Given the description of an element on the screen output the (x, y) to click on. 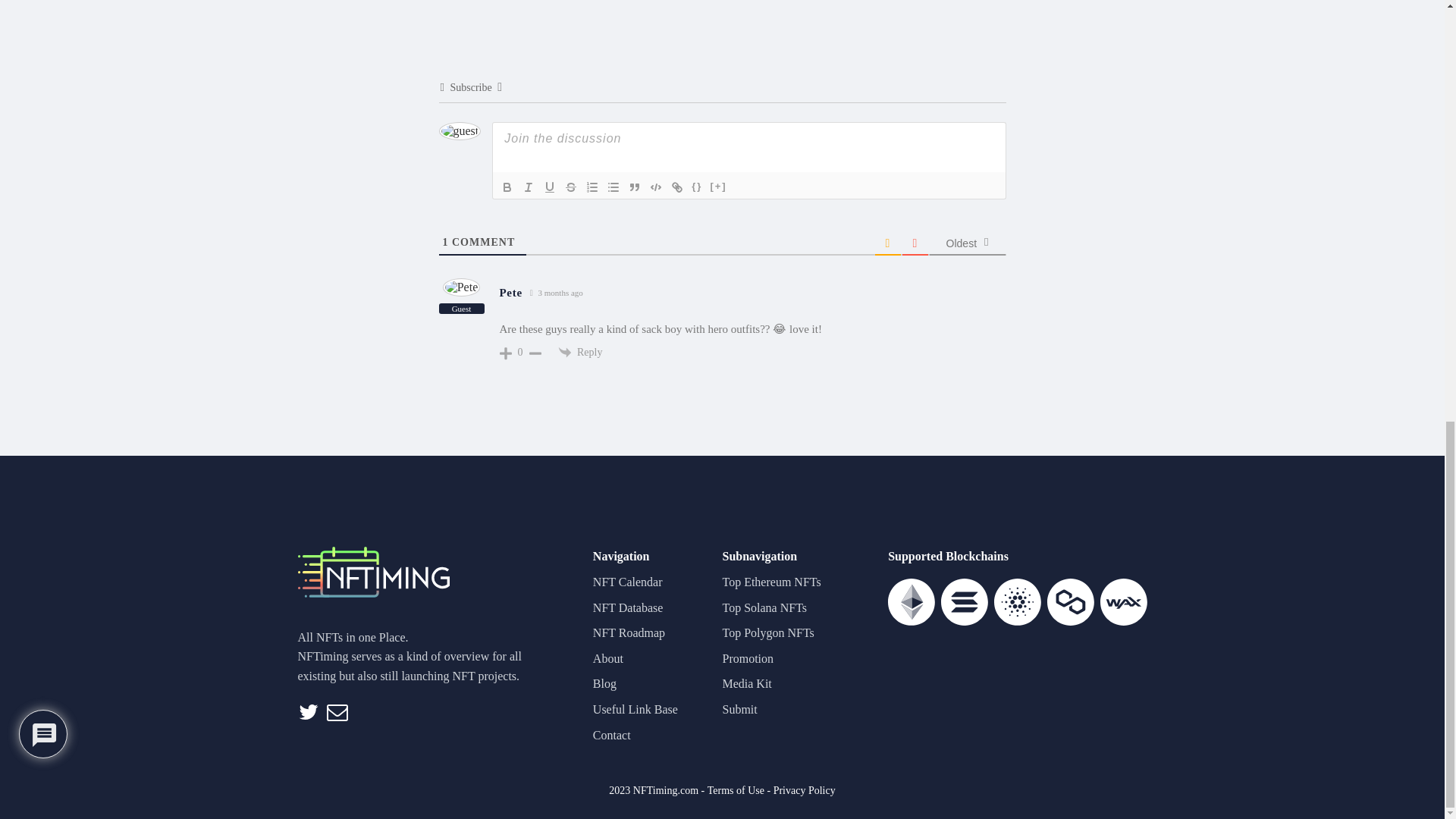
Code Block (655, 187)
Underline (549, 187)
Link (676, 187)
Italic (528, 187)
Bold (507, 187)
Unordered List (613, 187)
Strike (570, 187)
Ordered List (591, 187)
Blockquote (634, 187)
Source Code (696, 187)
Spoiler (718, 187)
